Given the description of an element on the screen output the (x, y) to click on. 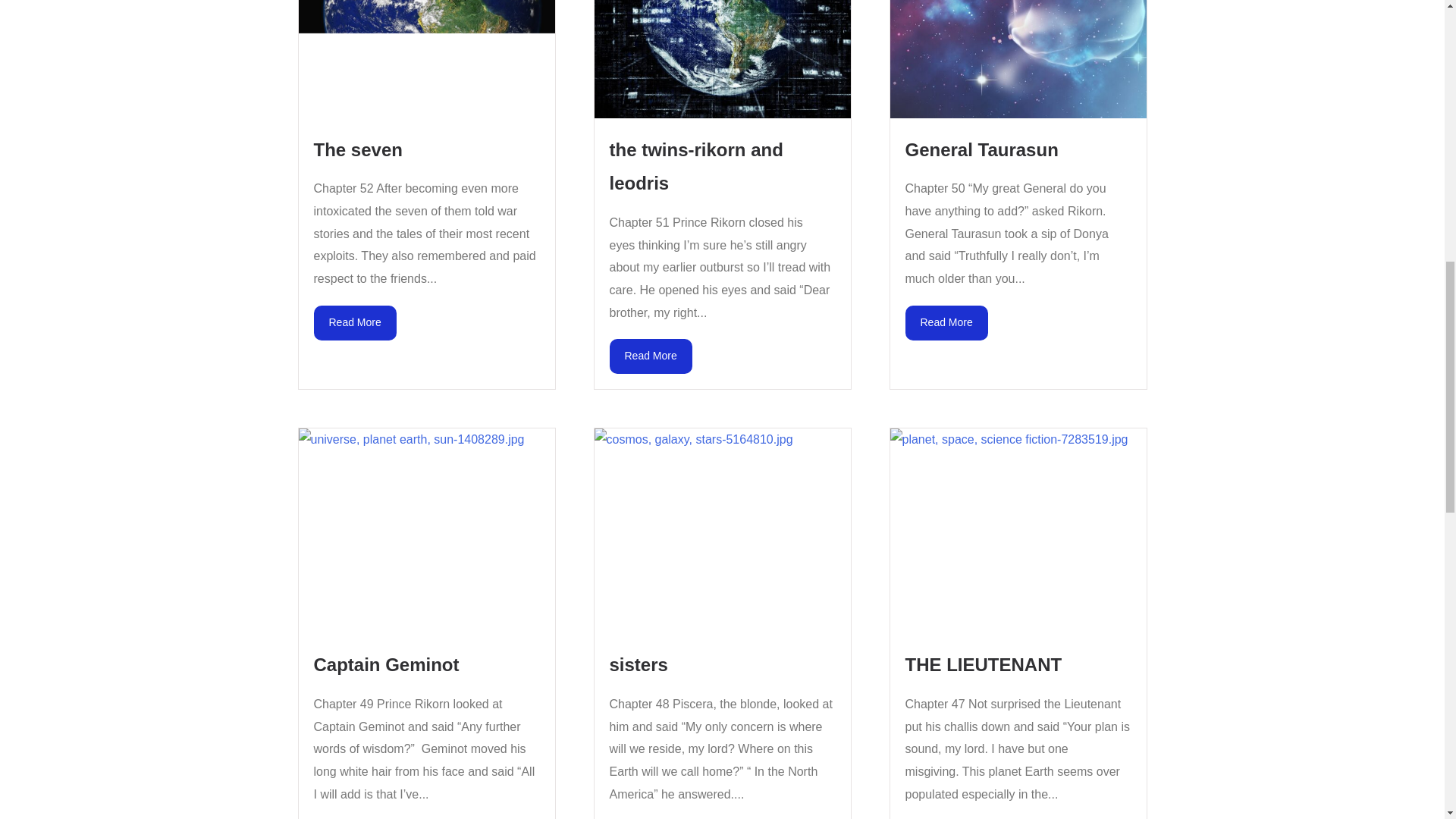
Read More (651, 356)
THE LIEUTENANT (983, 664)
The seven (358, 149)
Captain Geminot (387, 664)
sisters (639, 664)
Read More (355, 322)
the twins-rikorn and leodris (696, 166)
General Taurasun (981, 149)
Read More (946, 322)
